Given the description of an element on the screen output the (x, y) to click on. 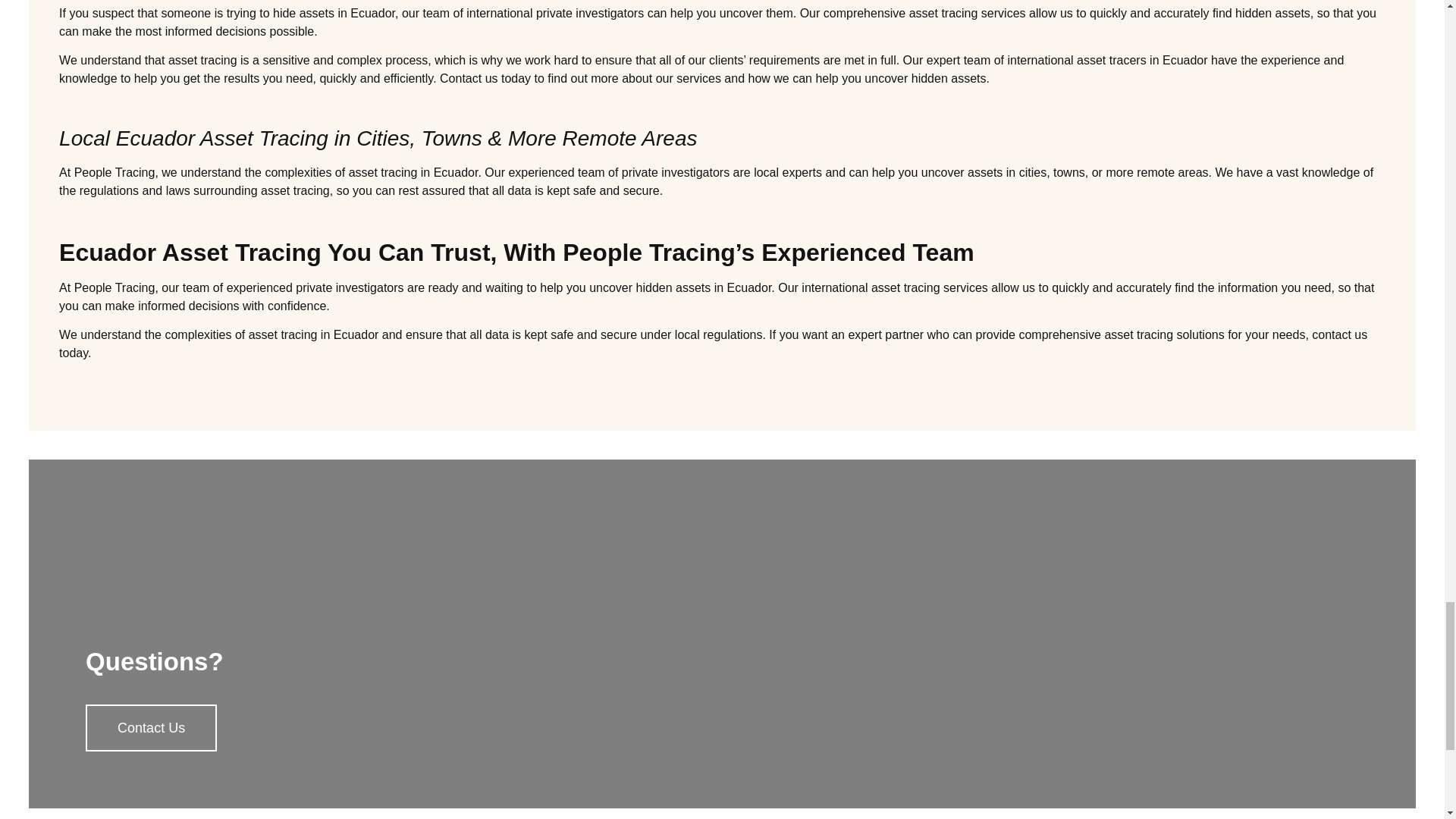
Contact Us (150, 727)
